Given the description of an element on the screen output the (x, y) to click on. 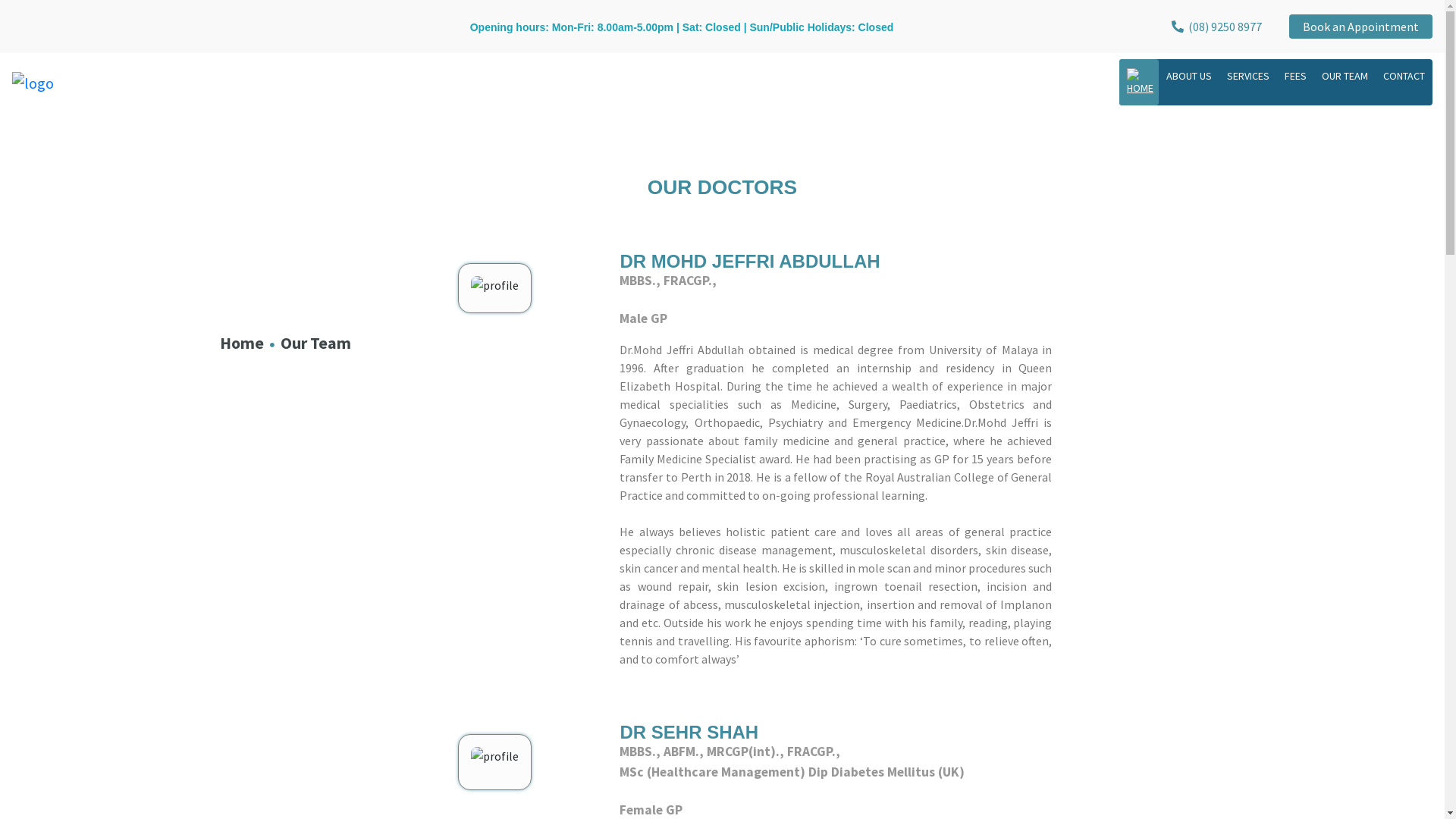
Our Team Element type: text (315, 342)
Book an Appointment Element type: text (1360, 26)
CONTACT Element type: text (1403, 76)
   (08) 9250 8977 Element type: text (1215, 26)
ABOUT US Element type: text (1188, 76)
SERVICES Element type: text (1248, 76)
Home Element type: text (241, 342)
FEES Element type: text (1295, 76)
Book an Appointment Element type: text (1360, 26)
OUR TEAM Element type: text (1344, 76)
